Given the description of an element on the screen output the (x, y) to click on. 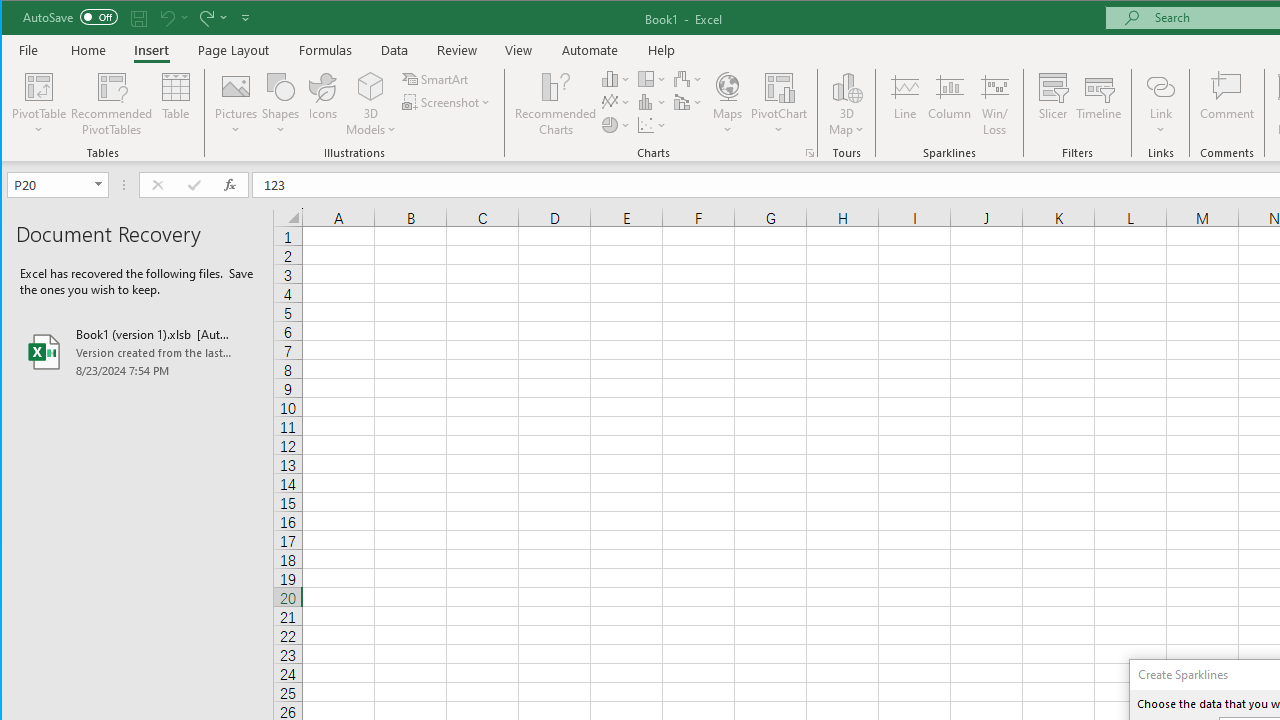
PivotTable (39, 104)
Insert Pie or Doughnut Chart (616, 124)
3D Map (846, 104)
Maps (727, 104)
PivotChart (779, 86)
Insert Line or Area Chart (616, 101)
Table (175, 104)
PivotTable (39, 86)
Insert Waterfall, Funnel, Stock, Surface, or Radar Chart (688, 78)
